Given the description of an element on the screen output the (x, y) to click on. 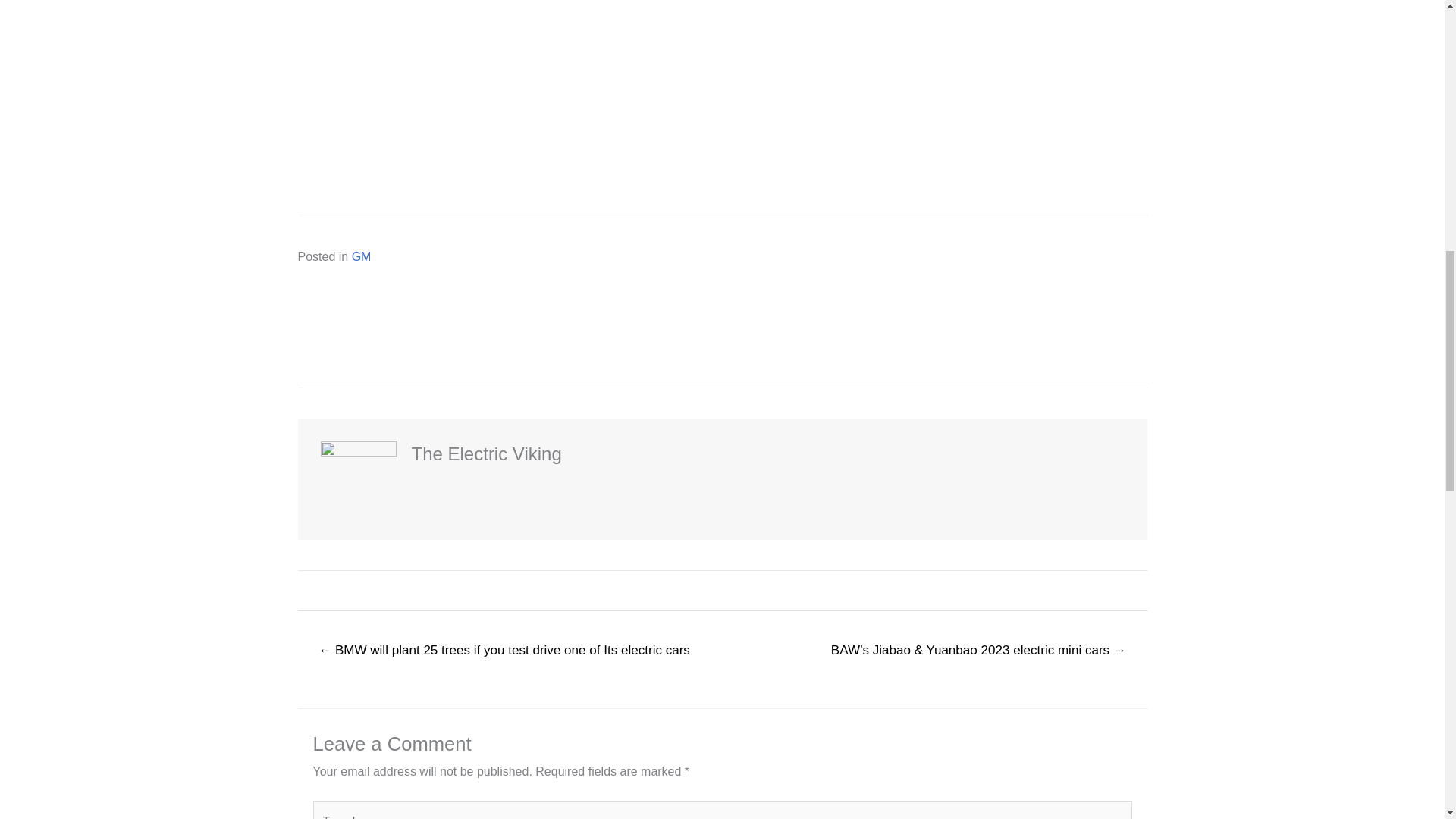
GM (361, 256)
